Given the description of an element on the screen output the (x, y) to click on. 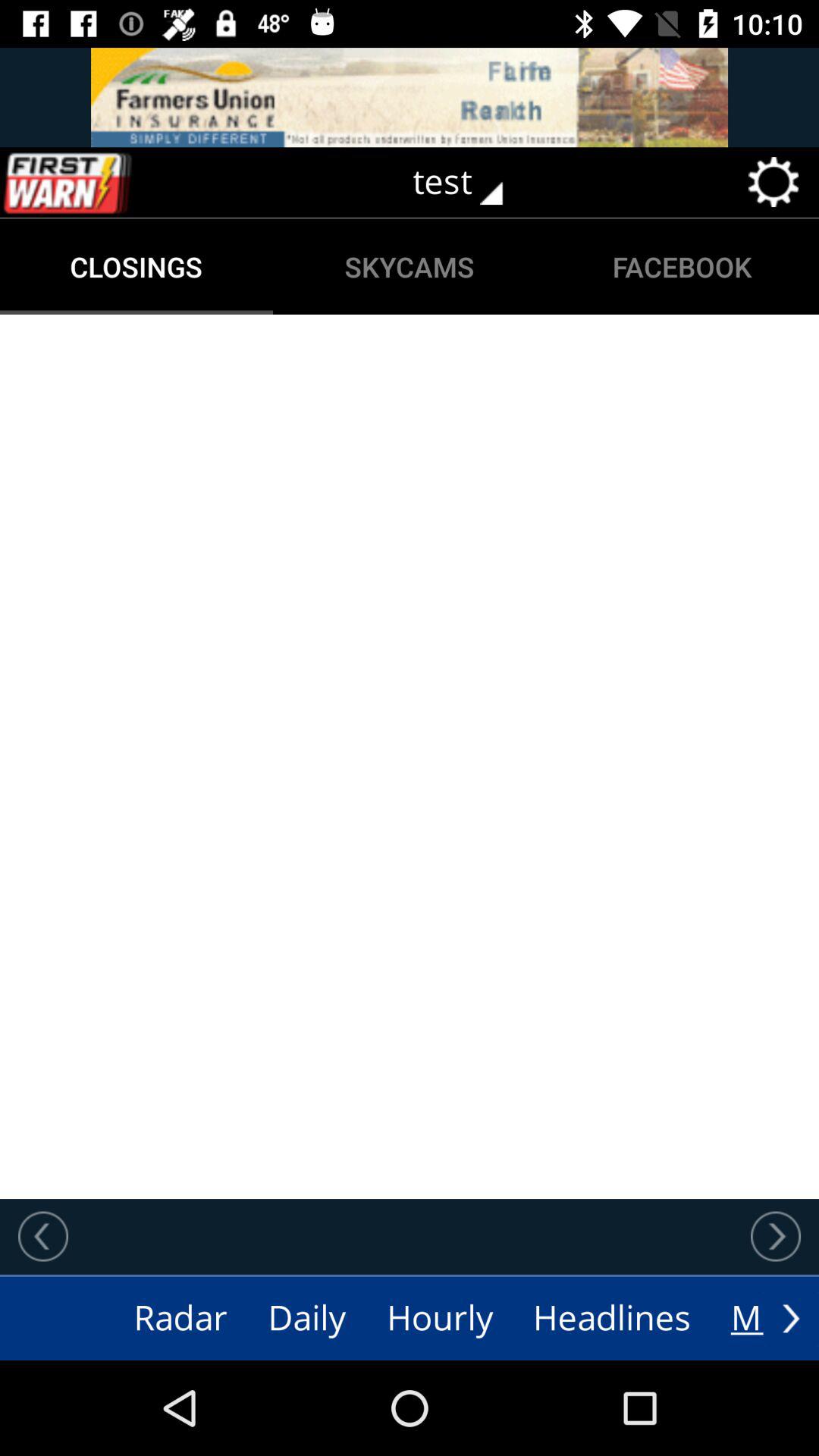
get notifications (99, 182)
